Given the description of an element on the screen output the (x, y) to click on. 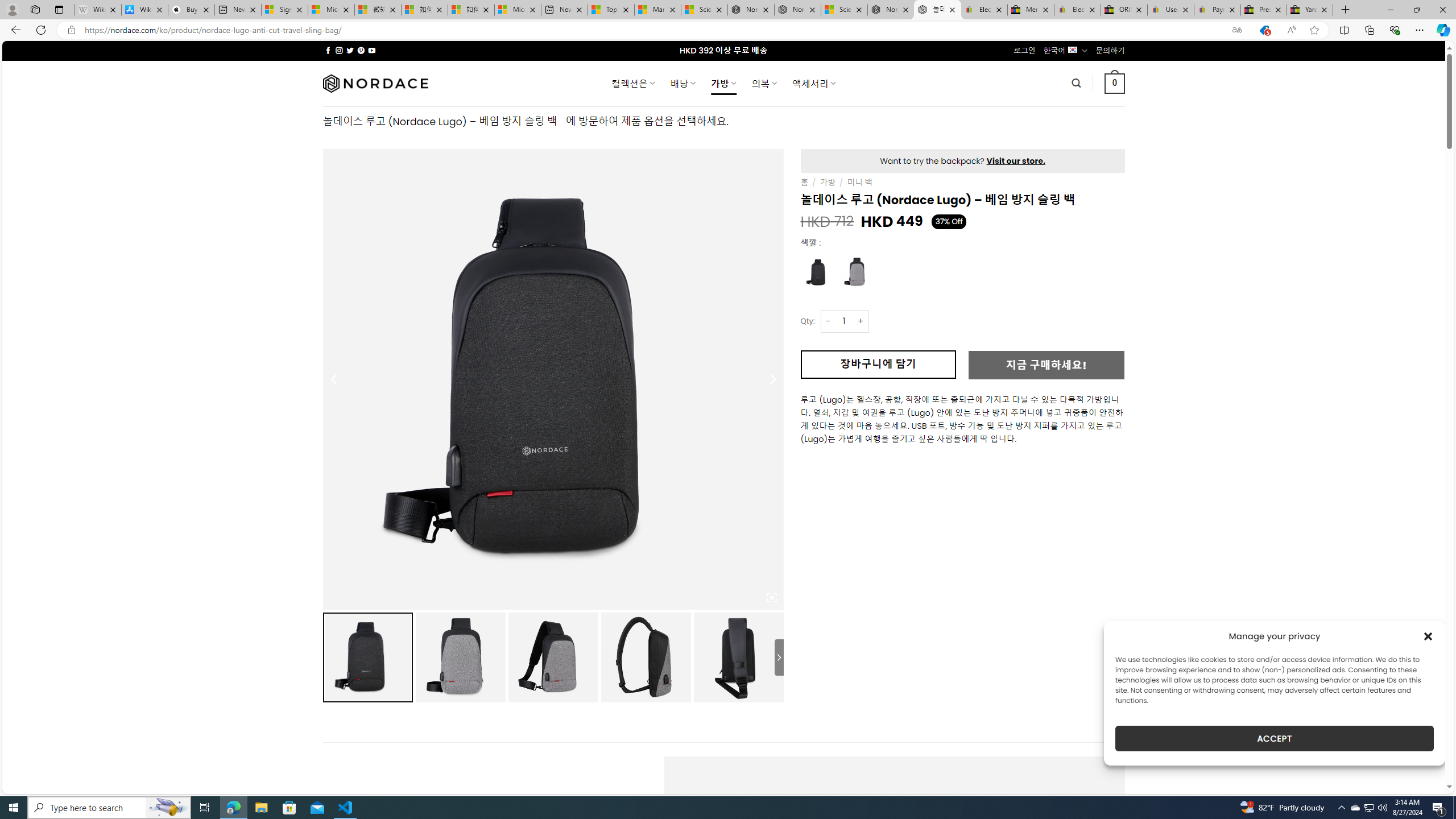
  0   (1115, 83)
Microsoft account | Account Checkup (517, 9)
Show translate options (1236, 29)
Payments Terms of Use | eBay.com (1216, 9)
ACCEPT (1274, 738)
Class: cmplz-close (1428, 636)
